Given the description of an element on the screen output the (x, y) to click on. 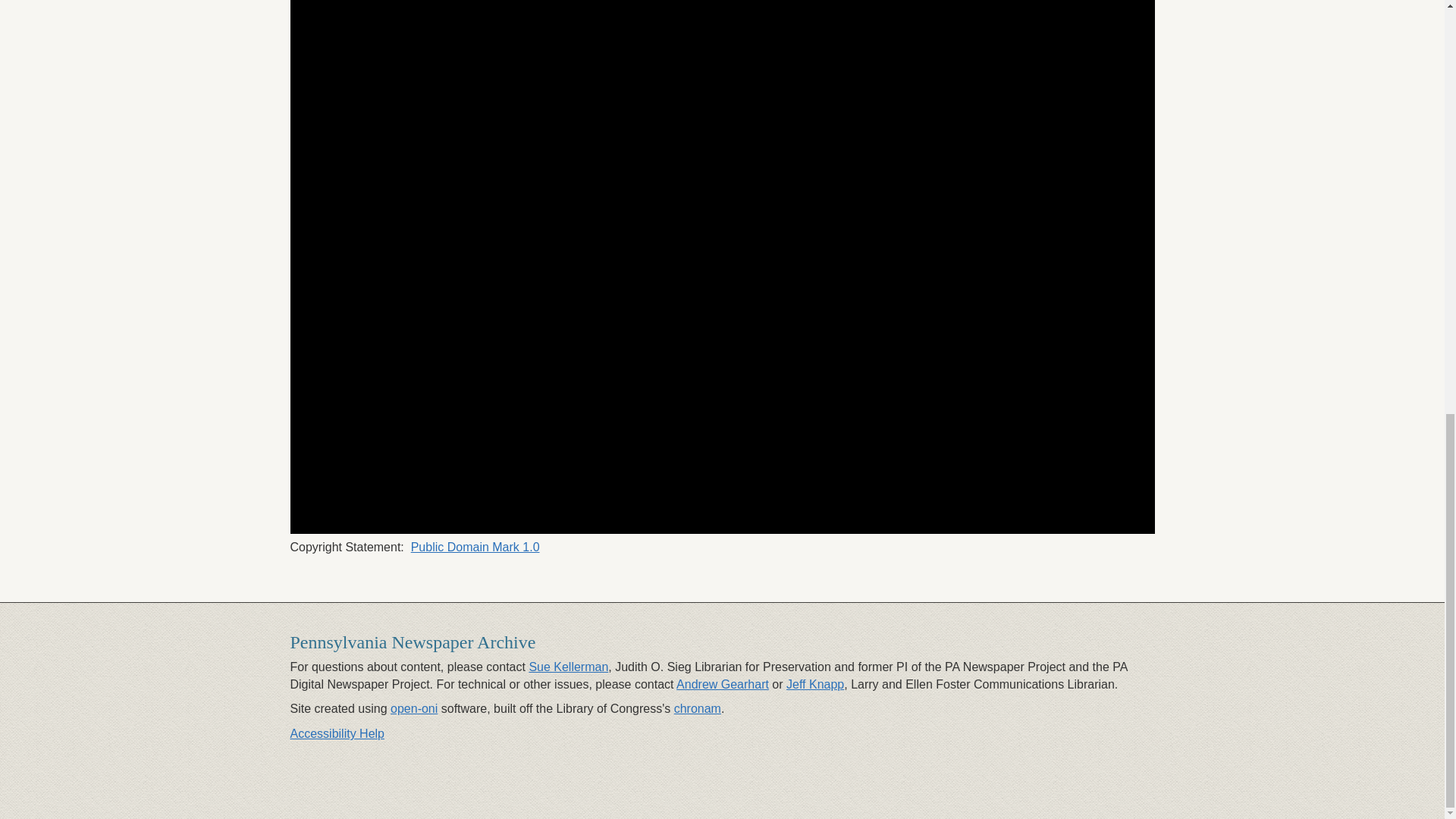
Sue Kellerman (568, 666)
open-oni (414, 707)
chronam (697, 707)
Accessibility Help (336, 733)
Jeff Knapp (815, 684)
Public Domain Mark 1.0 (475, 546)
Andrew Gearhart (722, 684)
